Given the description of an element on the screen output the (x, y) to click on. 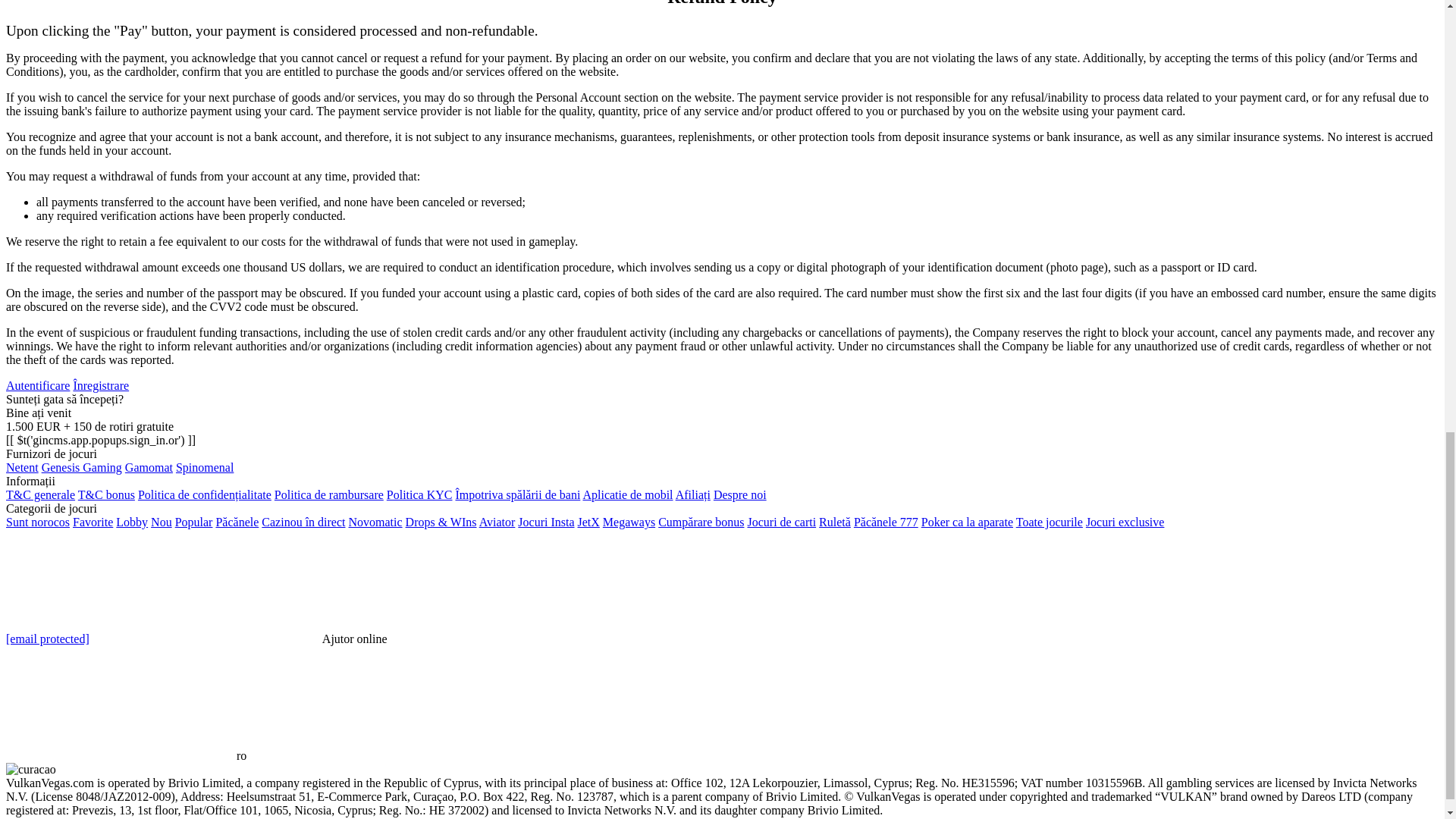
Autentificare (37, 385)
Politica KYC (419, 494)
Gamomat (149, 467)
Aplicatie de mobil (627, 494)
Favorite (92, 521)
Genesis Gaming (82, 467)
Despre noi (740, 494)
Politica de rambursare (329, 494)
Lobby (132, 521)
Sunt norocos (37, 521)
Spinomenal (204, 467)
Netent (22, 467)
